Given the description of an element on the screen output the (x, y) to click on. 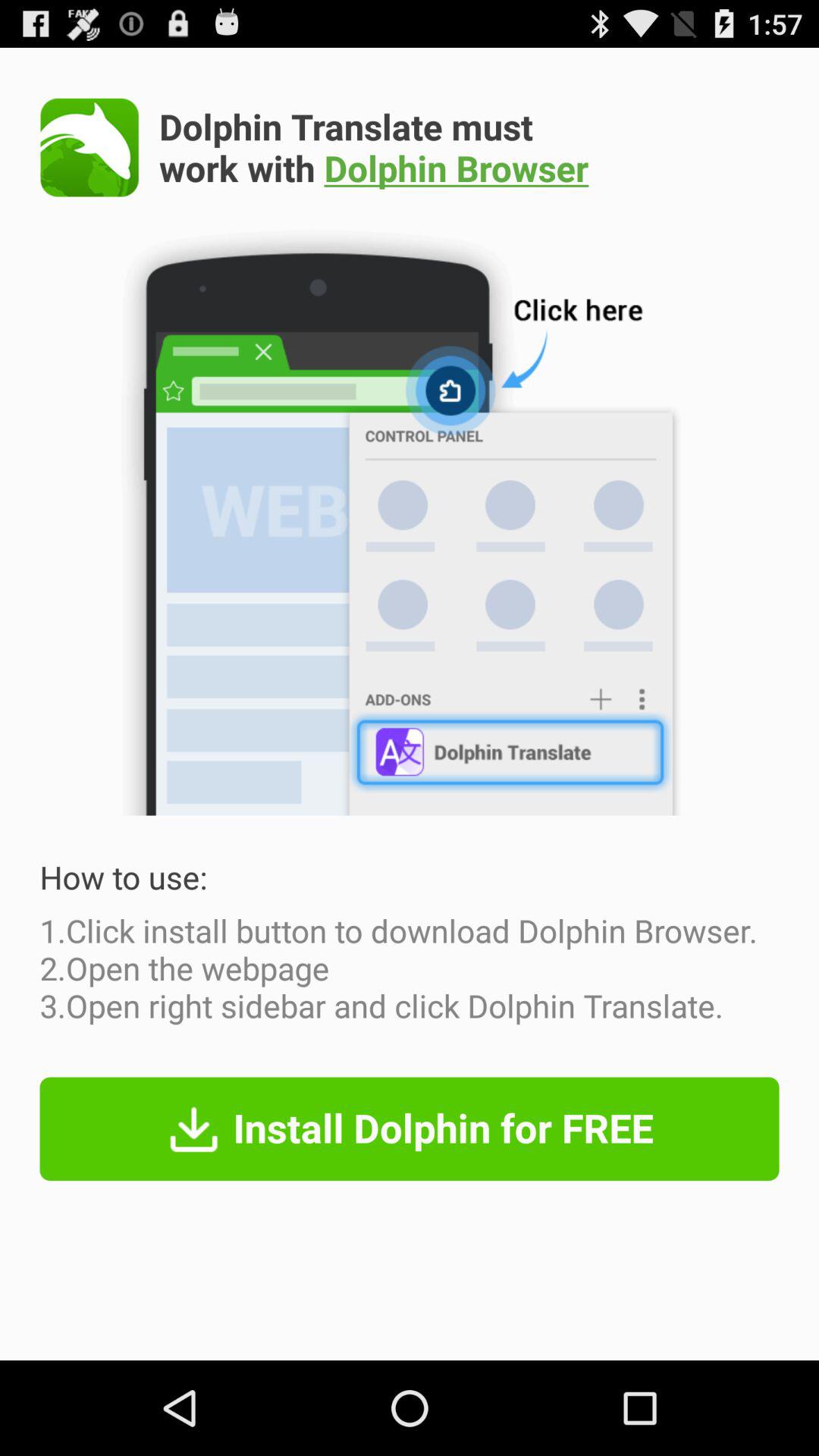
get dolphin browser (89, 147)
